Given the description of an element on the screen output the (x, y) to click on. 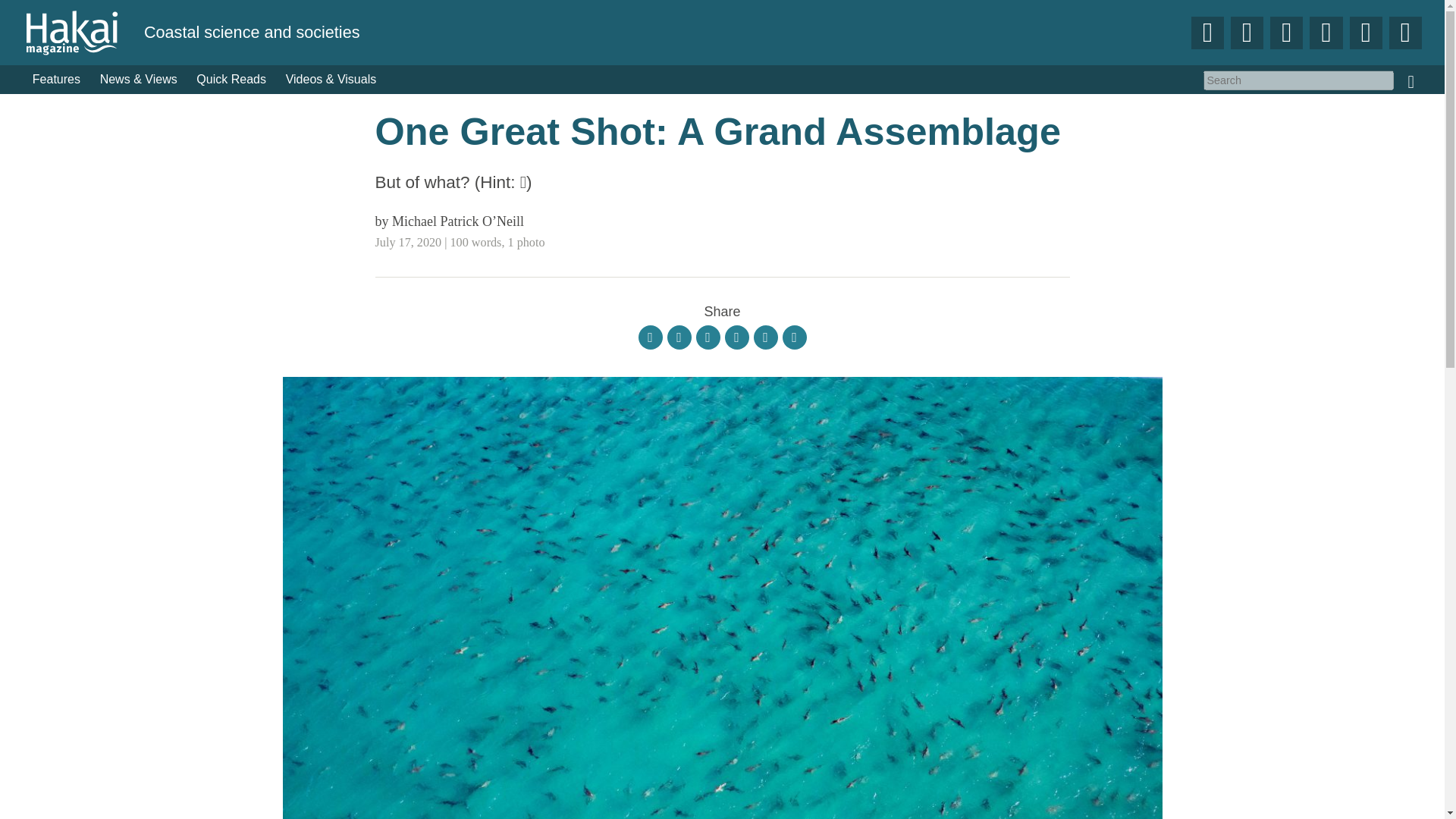
Share on Facebook (678, 337)
Share on Pocket (737, 337)
Quick Reads (231, 79)
Share on Mastodon (765, 337)
Share on Twitter (707, 337)
Search for: (1298, 80)
Share by Email (794, 337)
Share on Flipboard (650, 337)
Features (56, 79)
Hakai Magazine (83, 32)
